Given the description of an element on the screen output the (x, y) to click on. 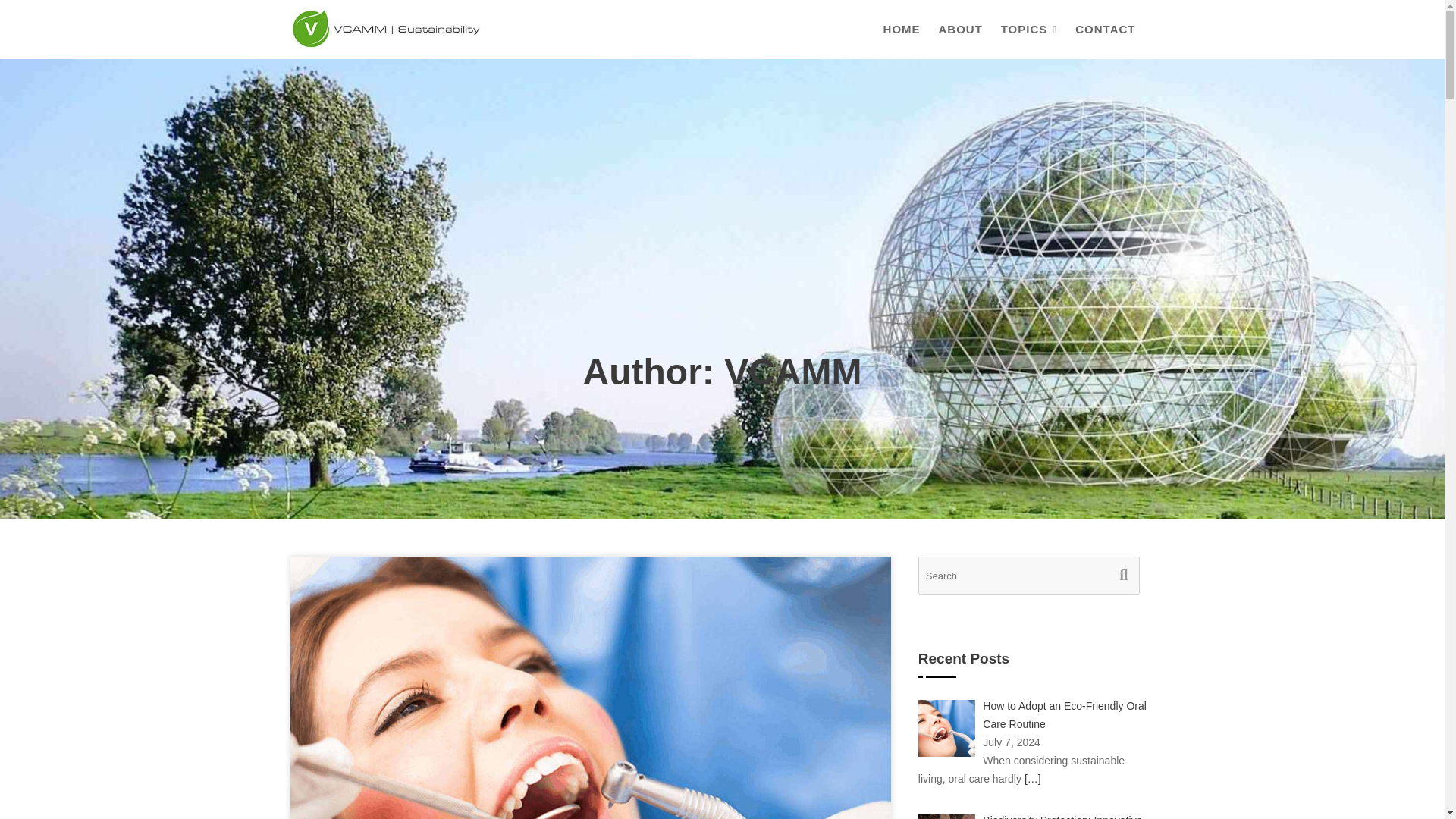
TOPICS (1028, 29)
CONTACT (1104, 28)
HOME (902, 28)
ABOUT (960, 28)
